Given the description of an element on the screen output the (x, y) to click on. 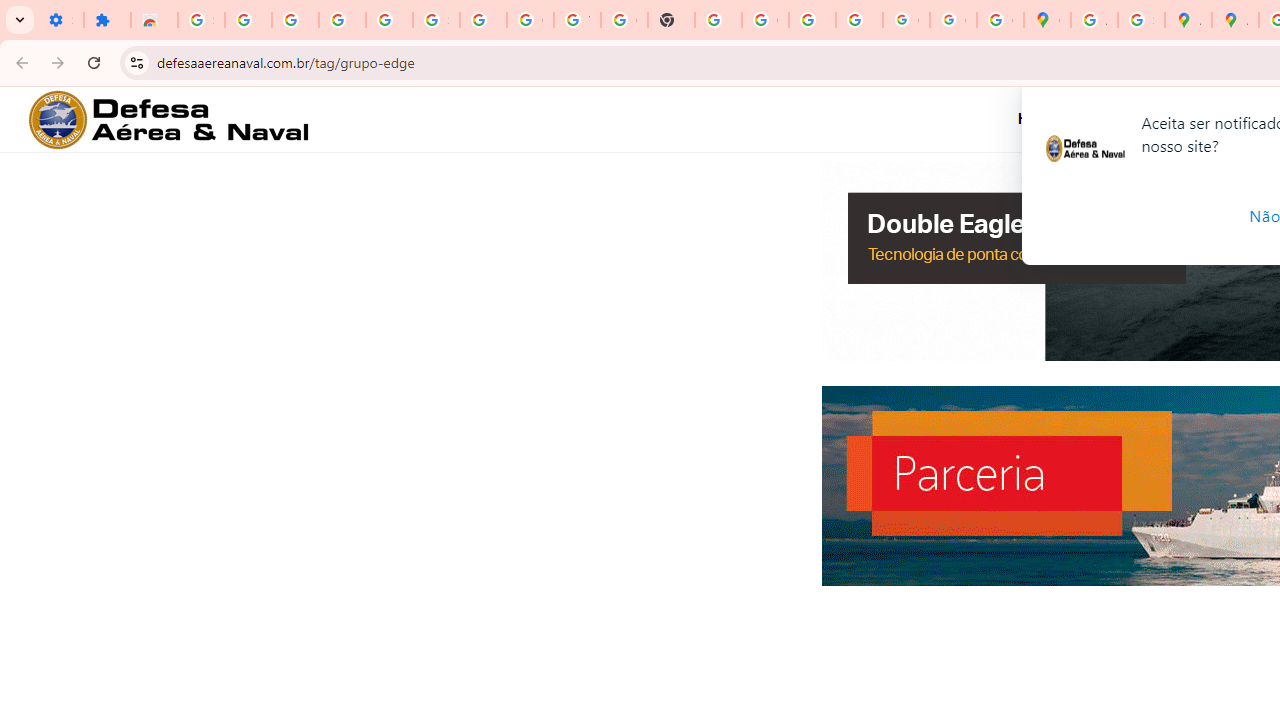
AutomationID: menu-item-105192 (1127, 119)
https://scholar.google.com/ (718, 20)
Safety in Our Products - Google Safety Center (1140, 20)
AutomationID: menu-item-277 (1053, 119)
DAN TV (1188, 117)
Sign in - Google Accounts (201, 20)
